Given the description of an element on the screen output the (x, y) to click on. 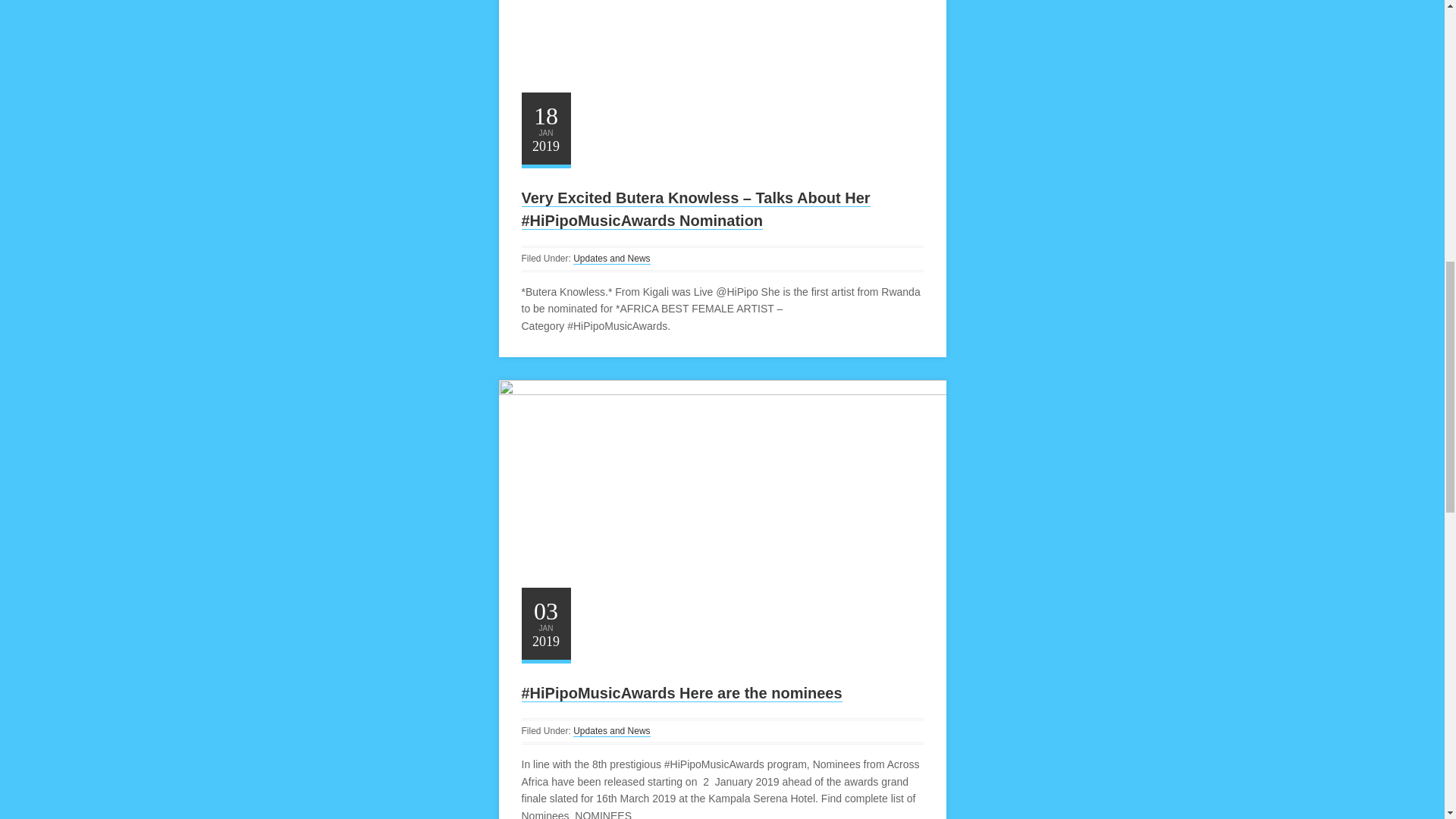
Updates and News (611, 258)
Updates and News (611, 731)
